Given the description of an element on the screen output the (x, y) to click on. 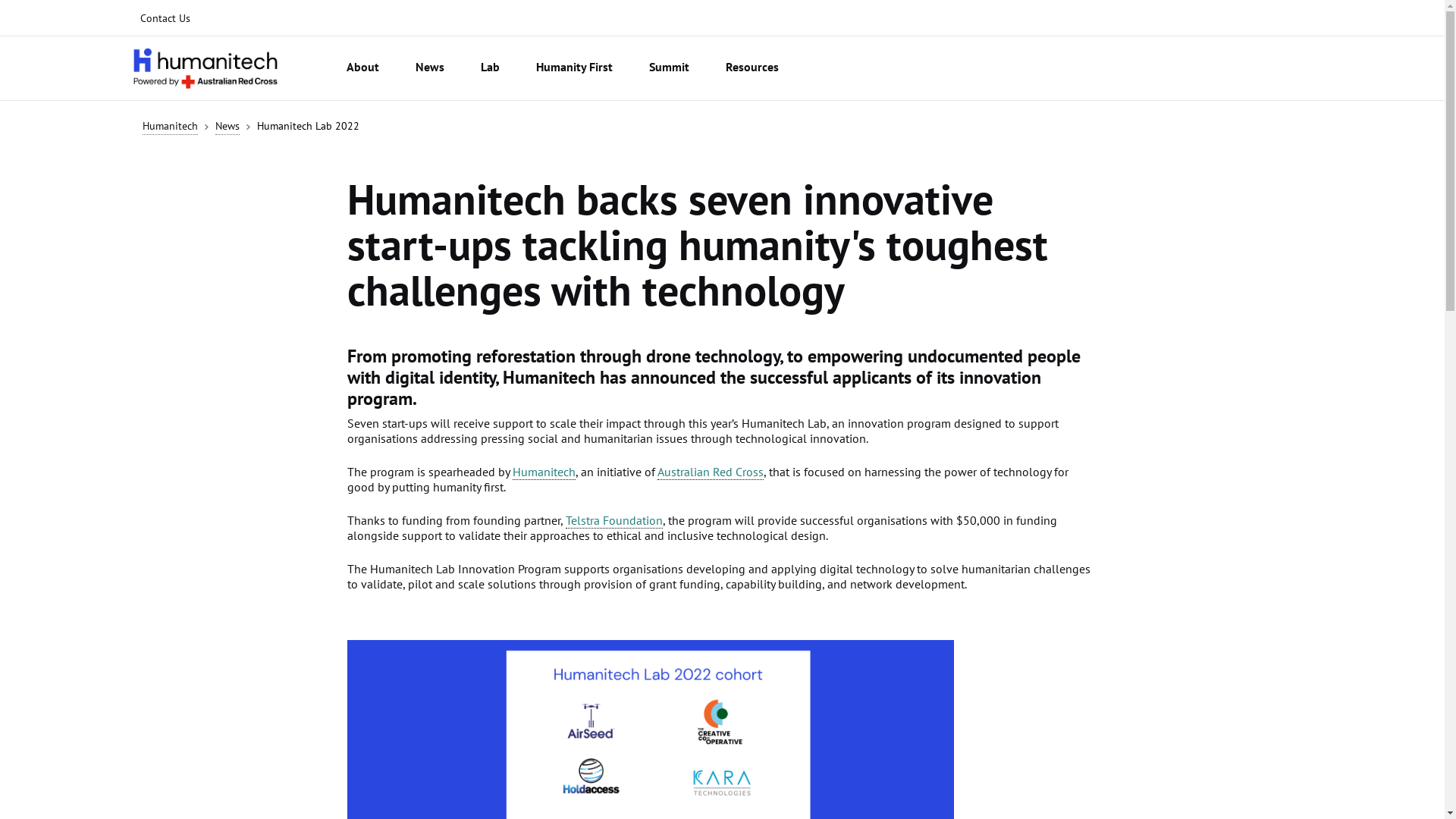
Humanitech Element type: text (169, 125)
News Element type: text (227, 125)
Humanitech Lab 2022 Element type: text (307, 126)
Summit Element type: text (669, 68)
Resources Element type: text (751, 68)
Contact Us Element type: text (164, 17)
Humanity First Element type: text (574, 68)
Lab Element type: text (489, 68)
Telstra Foundation Element type: text (613, 520)
News Element type: text (429, 68)
Humanitech Element type: text (543, 472)
Australian Red Cross Element type: text (709, 472)
About Element type: text (362, 68)
